Given the description of an element on the screen output the (x, y) to click on. 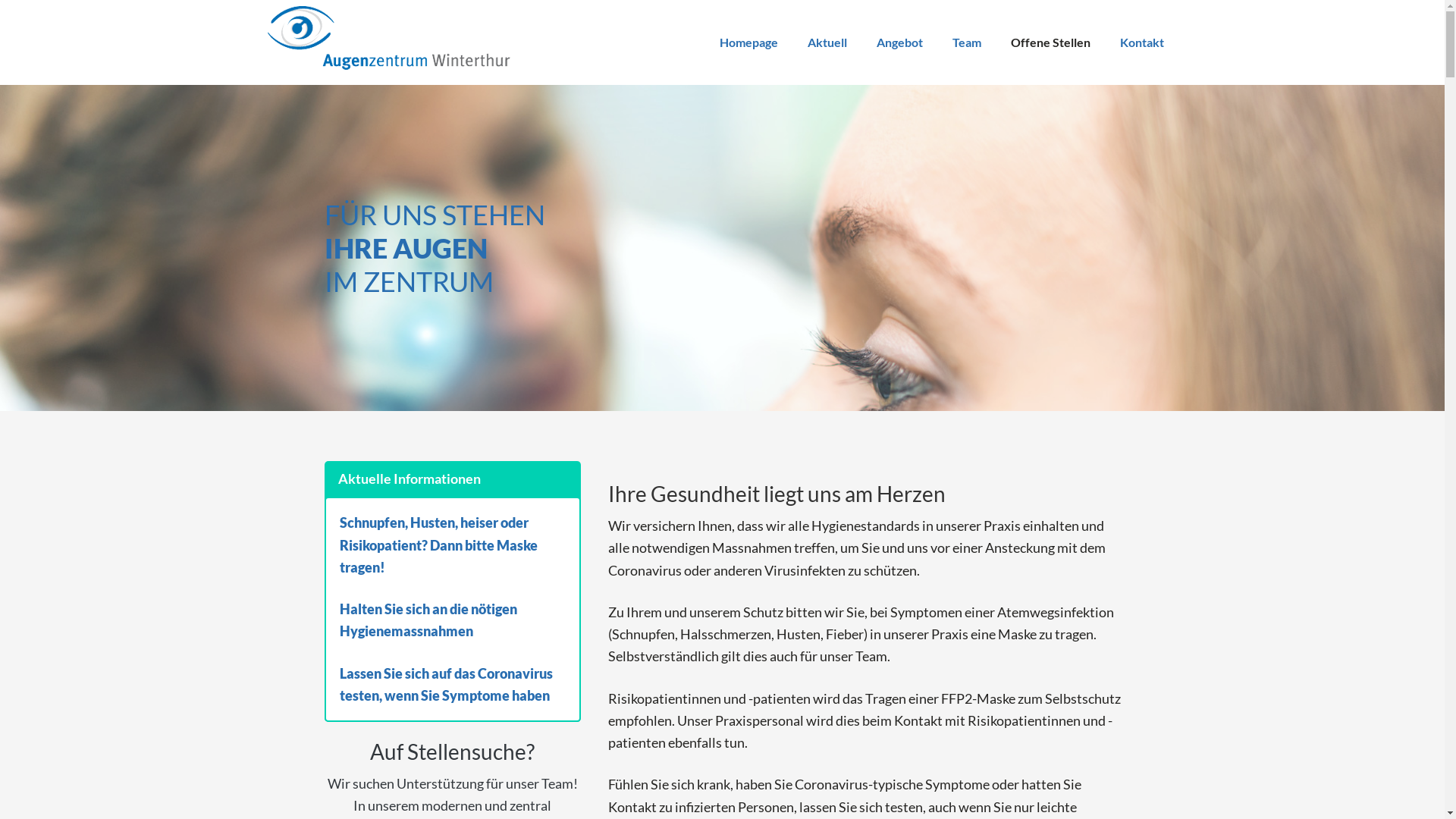
Homepage Element type: text (747, 42)
Angebot Element type: text (899, 42)
Team Element type: text (966, 42)
Offene Stellen Element type: text (1049, 42)
Kontakt Element type: text (1140, 42)
Aktuell Element type: text (826, 42)
Zur Hauptnavigation springen Element type: text (30, 0)
